Given the description of an element on the screen output the (x, y) to click on. 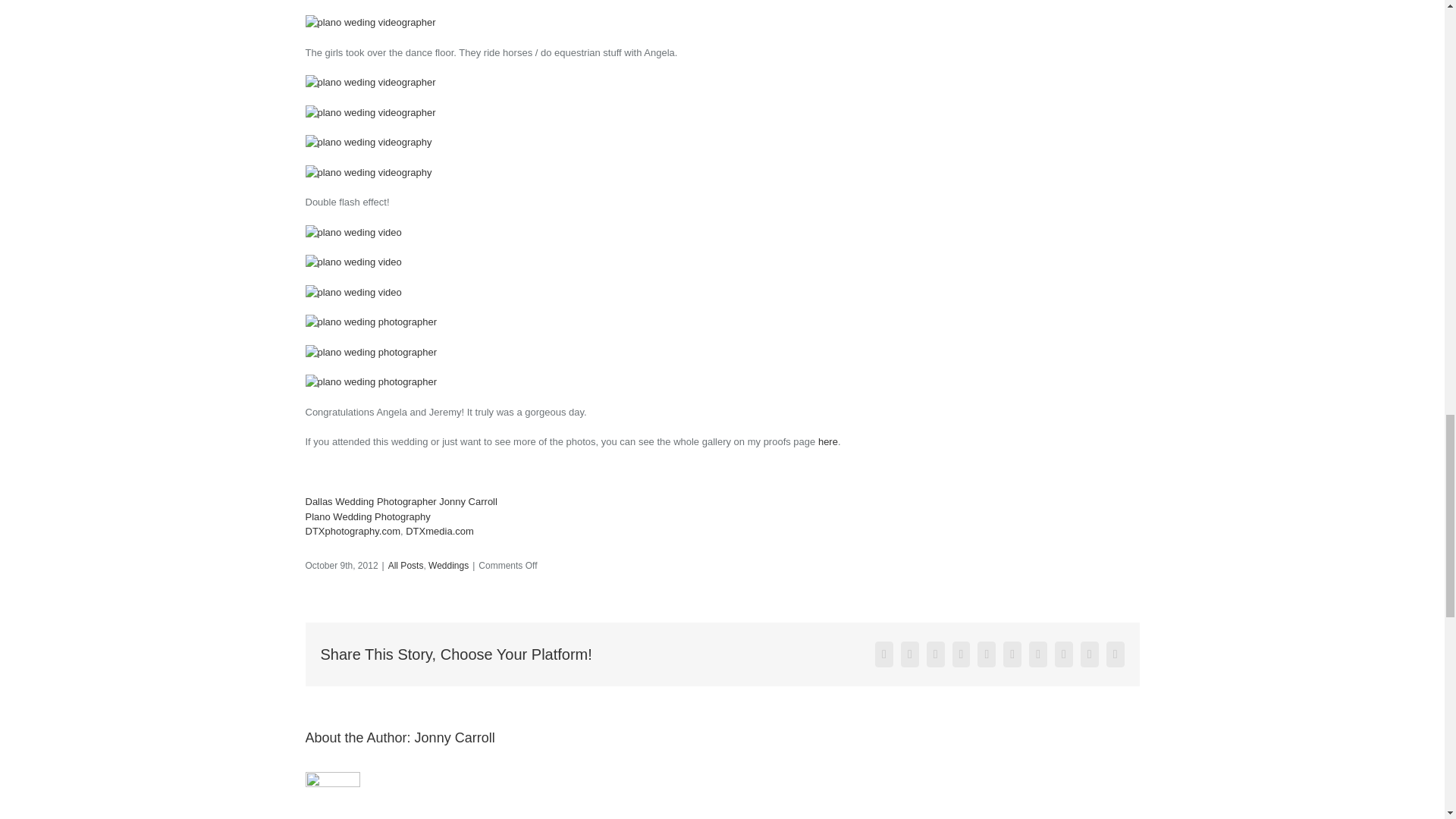
here (828, 441)
